Given the description of an element on the screen output the (x, y) to click on. 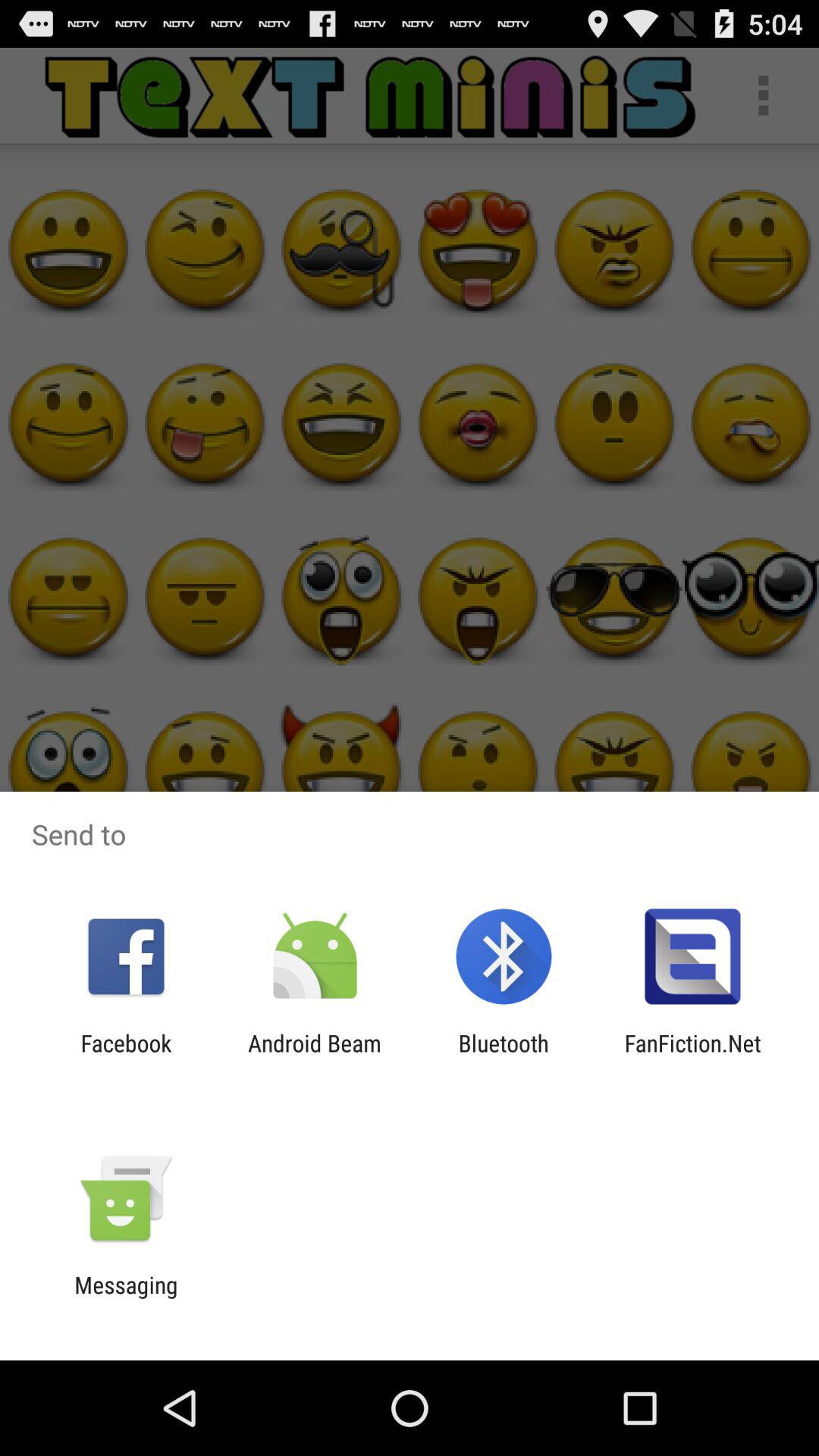
tap the app to the left of the android beam app (125, 1056)
